Given the description of an element on the screen output the (x, y) to click on. 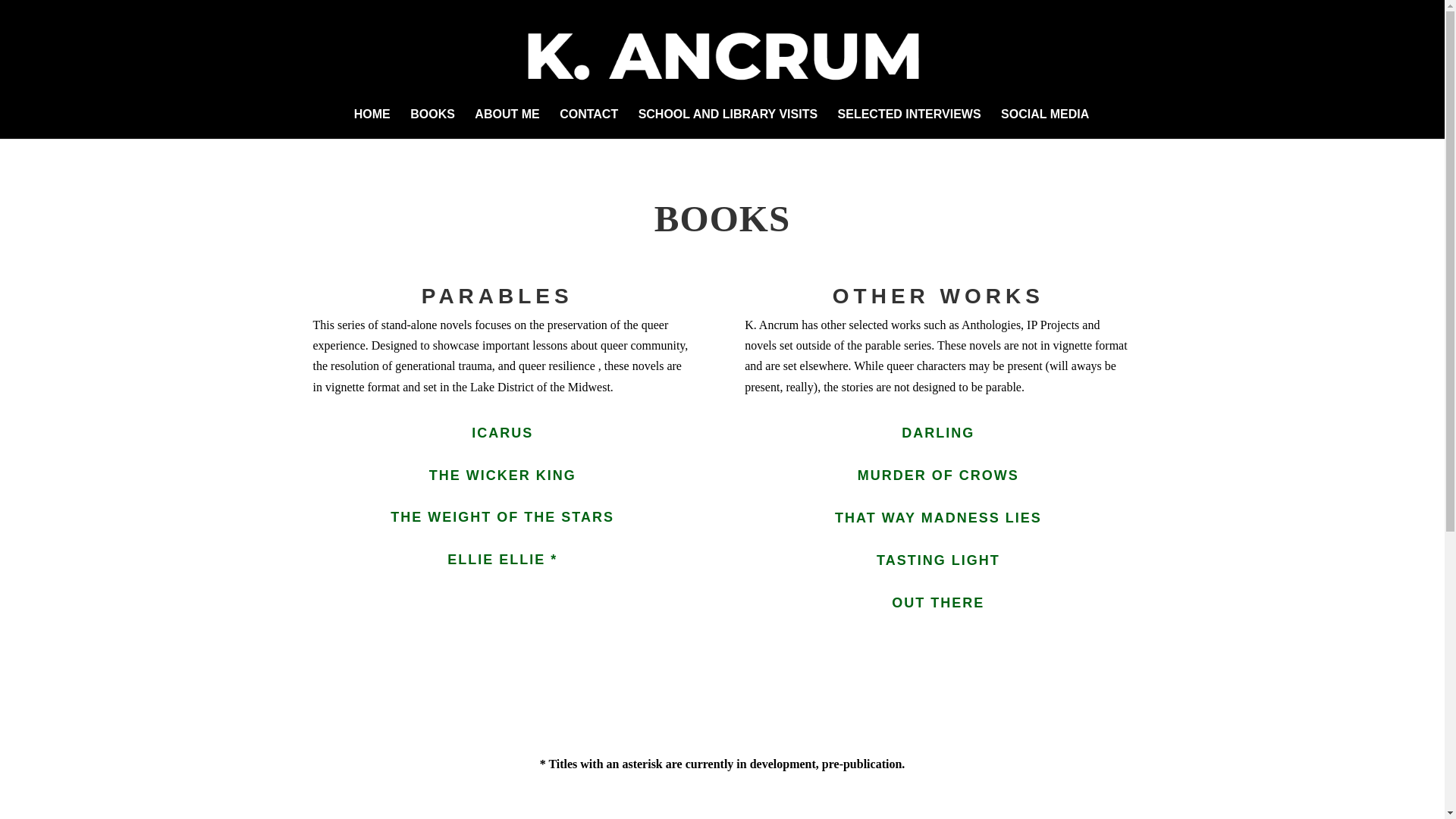
MURDER OF CROWS (938, 475)
SELECTED INTERVIEWS (909, 123)
HOME (371, 123)
ICARUS (501, 432)
THE WEIGHT OF THE STARS (502, 516)
SOCIAL MEDIA (1045, 123)
SCHOOL AND LIBRARY VISITS (727, 123)
THAT WAY MADNESS LIES (938, 517)
TASTING LIGHT (938, 560)
THE WICKER KING (502, 475)
CONTACT (588, 123)
OUT THERE (937, 602)
DARLING (937, 432)
BOOKS (432, 123)
ABOUT ME (506, 123)
